Given the description of an element on the screen output the (x, y) to click on. 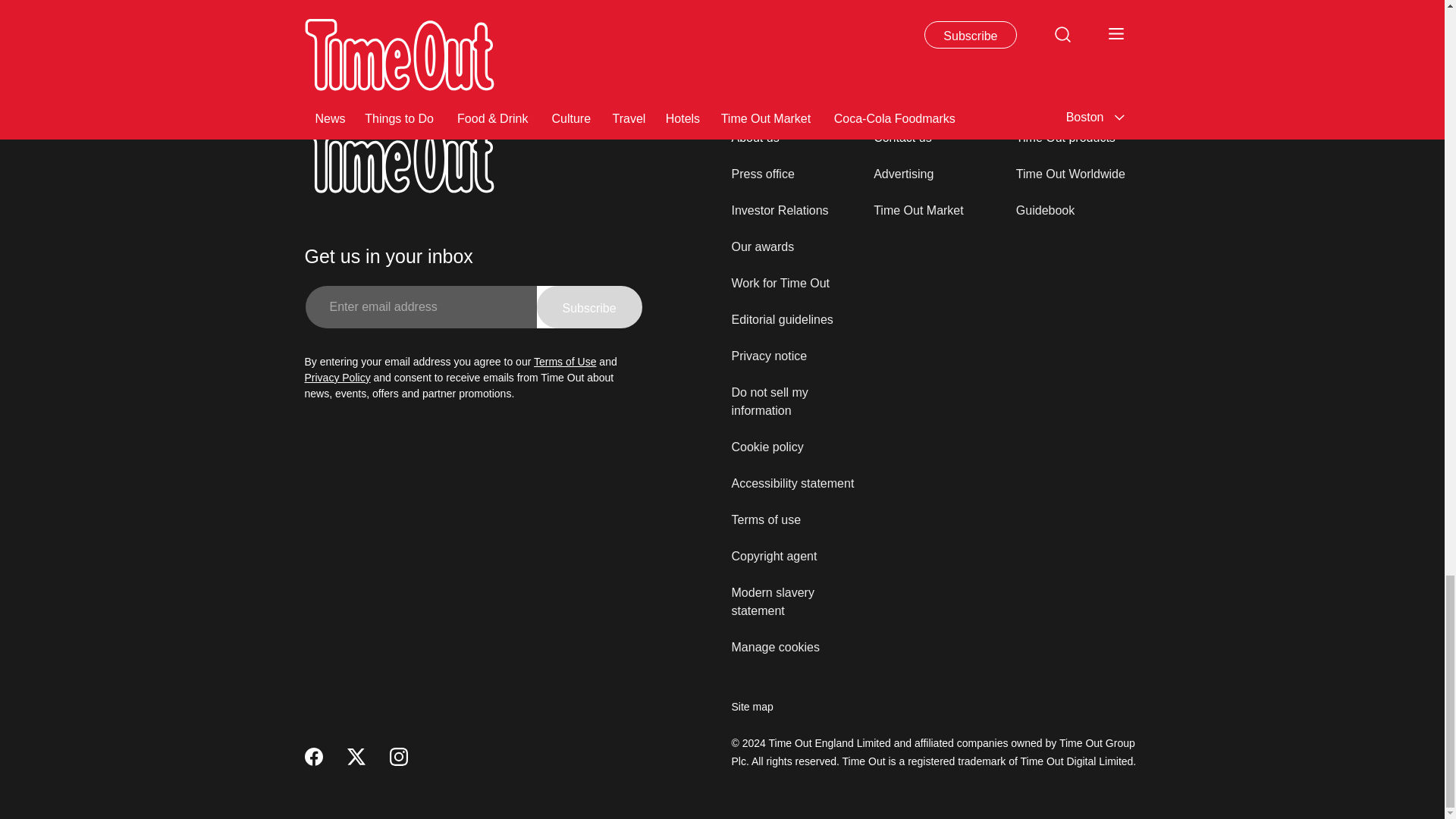
Subscribe (589, 306)
